Given the description of an element on the screen output the (x, y) to click on. 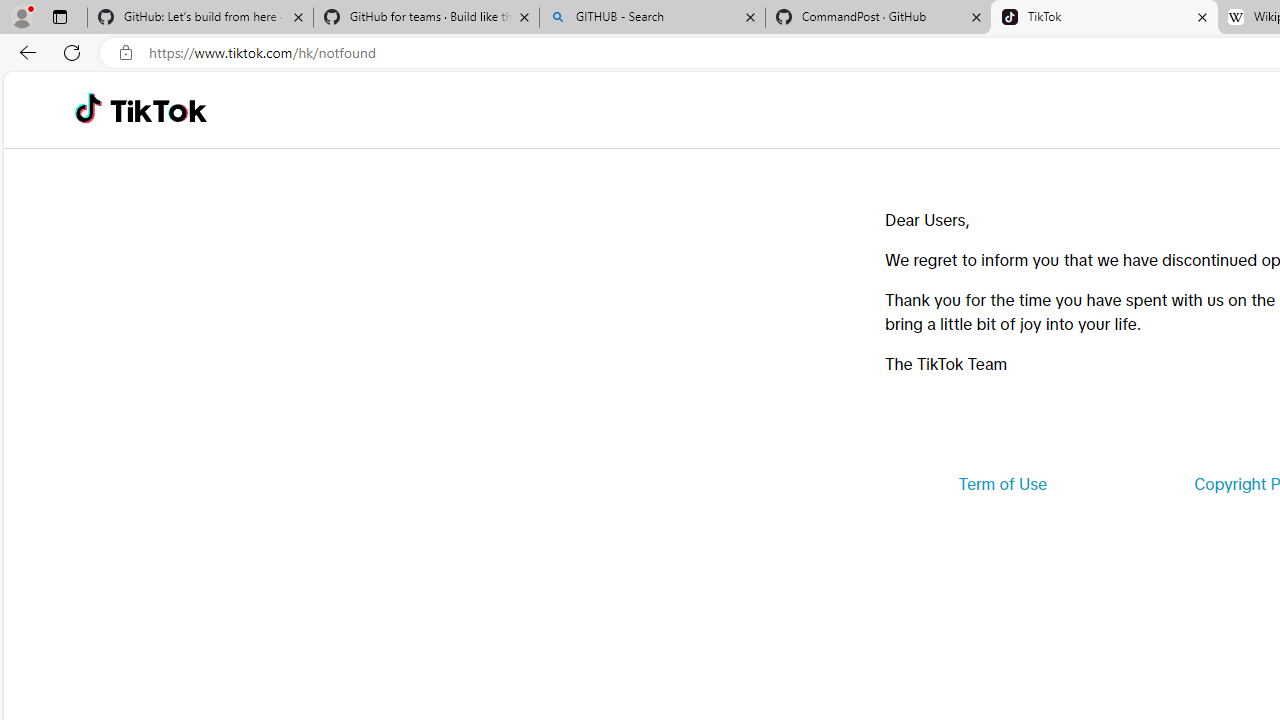
GITHUB - Search (652, 17)
TikTok (1104, 17)
Term of Use (1002, 484)
TikTok (158, 110)
